Given the description of an element on the screen output the (x, y) to click on. 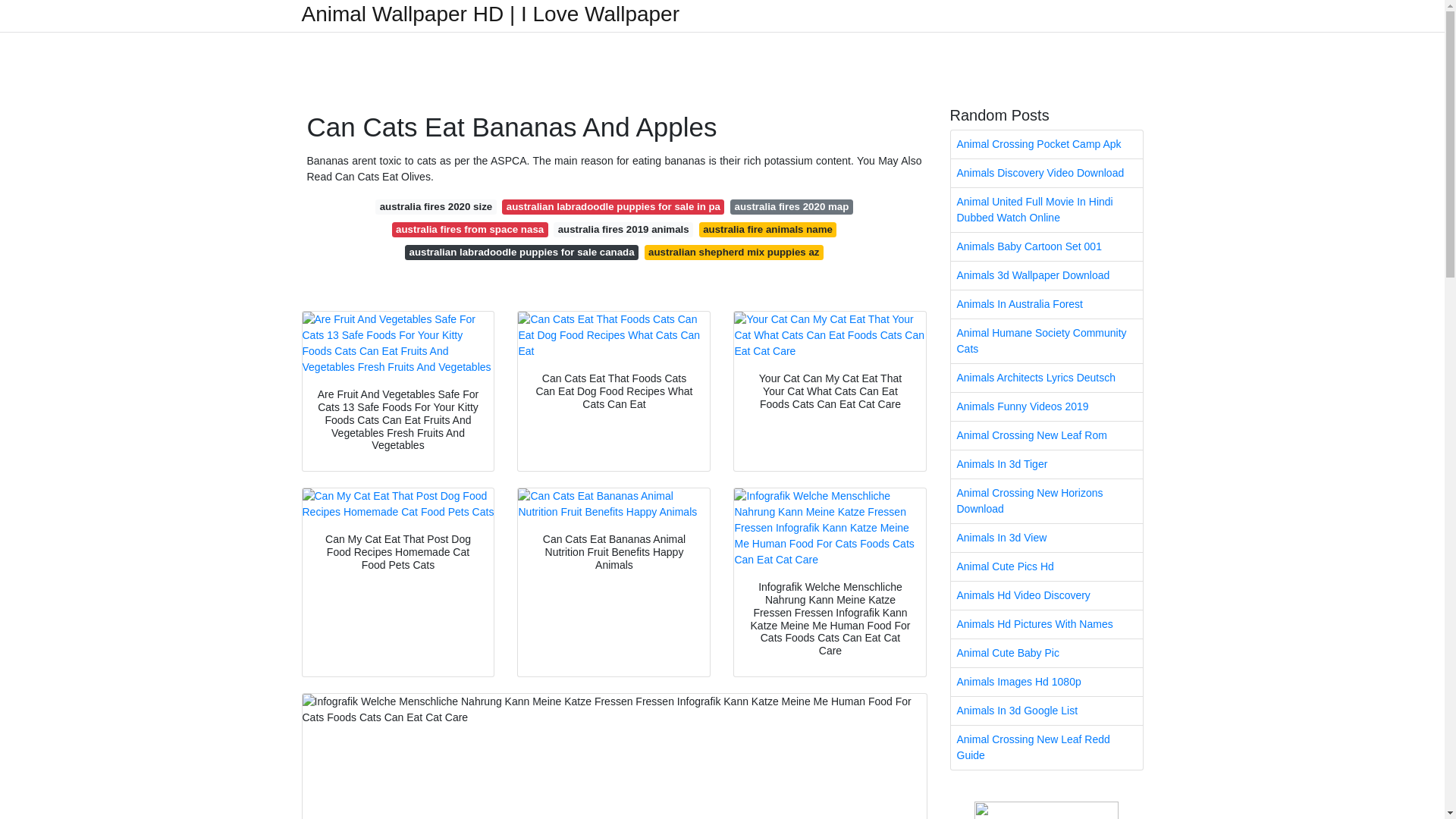
Animals Discovery Video Download (1046, 172)
australian labradoodle puppies for sale canada (521, 252)
Animals Baby Cartoon Set 001 (1046, 246)
Animals 3d Wallpaper Download (1046, 275)
australia fire animals name (766, 229)
australian shepherd mix puppies az (734, 252)
Animal Crossing Pocket Camp Apk (1046, 144)
Animals Architects Lyrics Deutsch (1046, 377)
Animal Crossing New Leaf Rom (1046, 435)
australia fires 2020 size (435, 206)
